Given the description of an element on the screen output the (x, y) to click on. 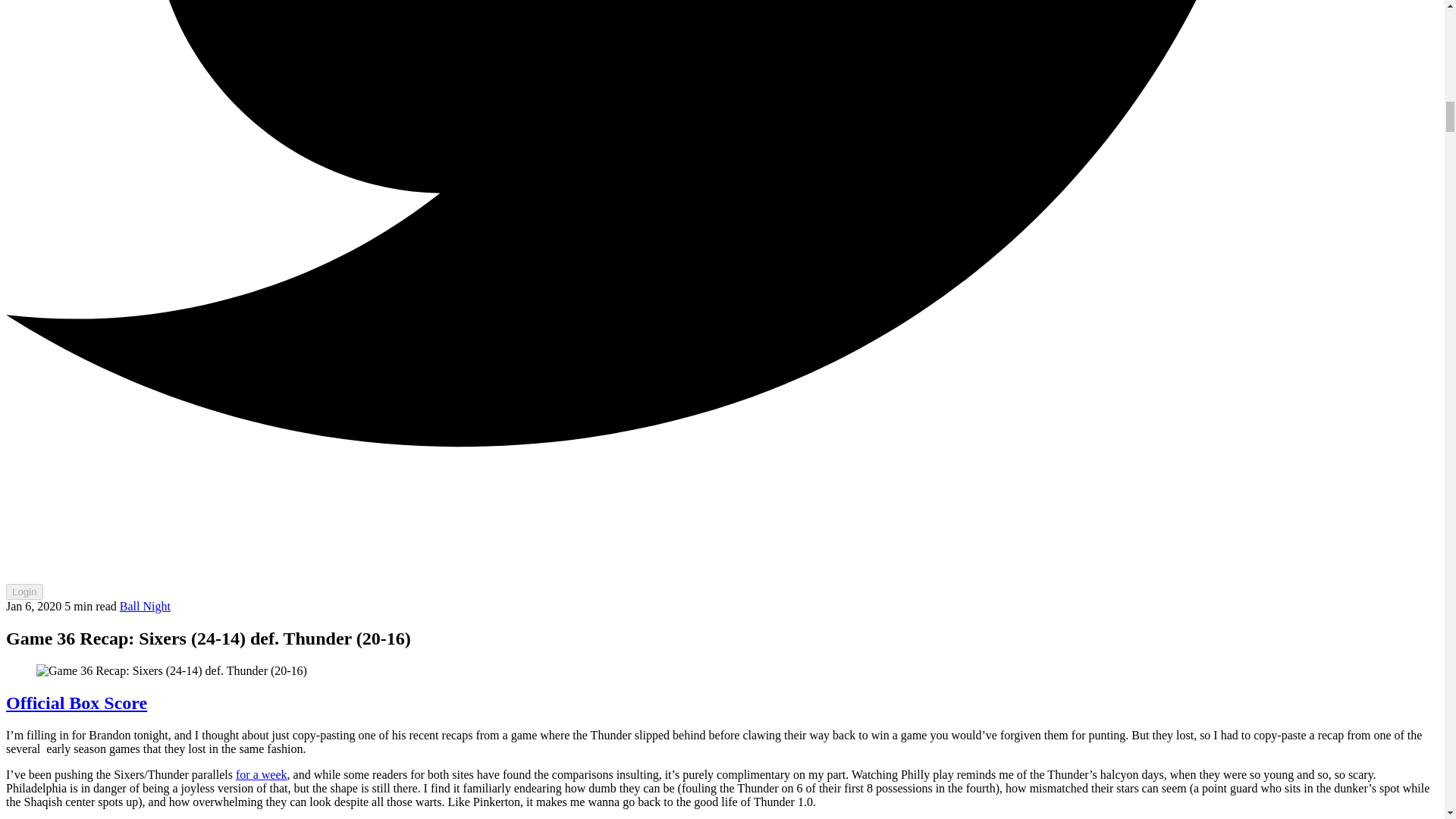
Official Box Score (76, 702)
for a week (260, 774)
Ball Night (144, 605)
Login (24, 591)
